Given the description of an element on the screen output the (x, y) to click on. 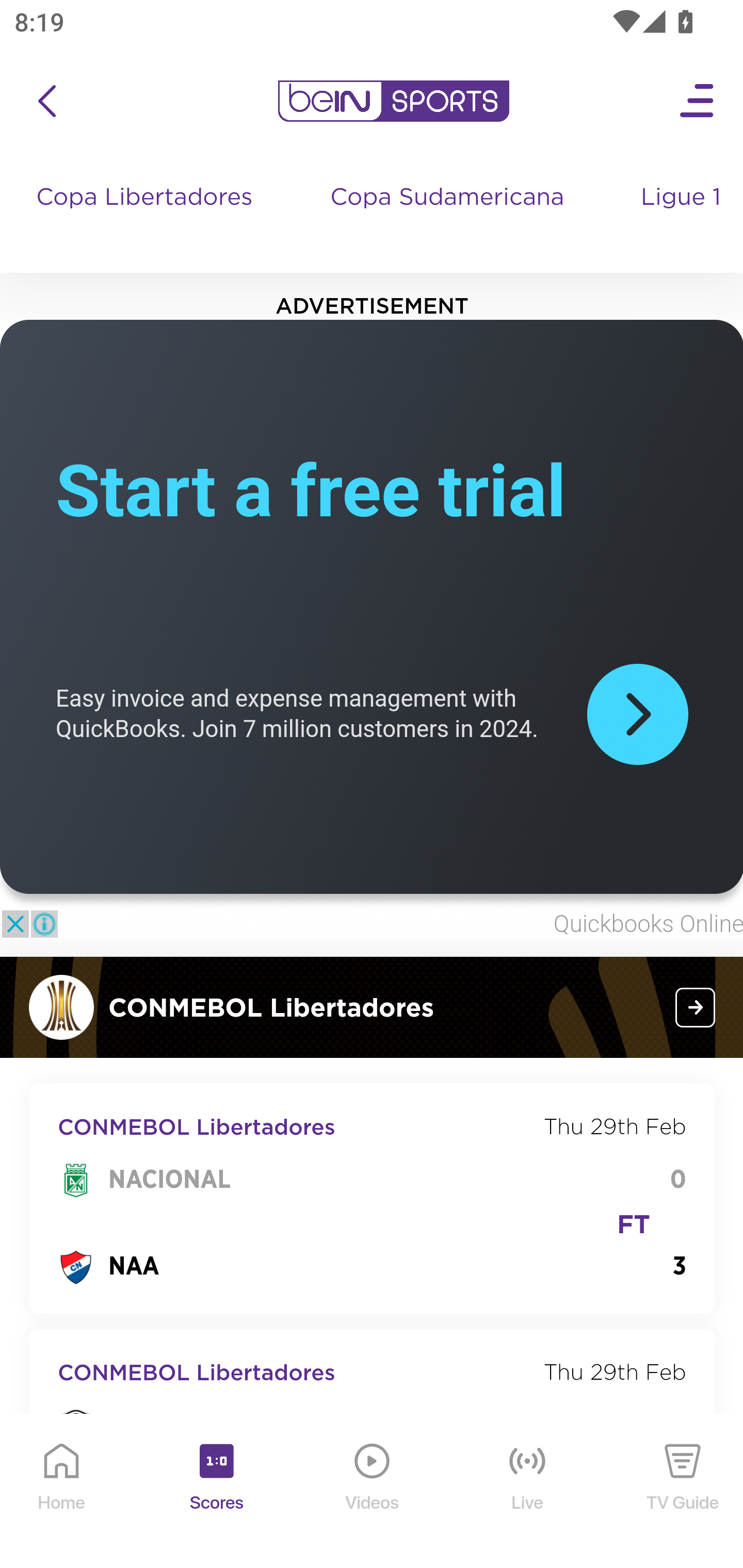
en-us?platform=mobile_android bein logo (392, 101)
icon back (46, 101)
Open Menu Icon (697, 101)
Copa Libertadores (146, 216)
Copa Sudamericana (448, 216)
Ligue 1 (682, 216)
Start a free trial (310, 491)
%3Fcid%3Dppc_ROW_%7Bdscampaign%7D%26gclsrc%3Daw (637, 713)
Quickbooks Online (647, 924)
conmebol-libertadores?platform=mobile_android (695, 1007)
Home Home Icon Home (61, 1491)
Scores Scores Icon Scores (216, 1491)
Videos Videos Icon Videos (372, 1491)
TV Guide TV Guide Icon TV Guide (682, 1491)
